Given the description of an element on the screen output the (x, y) to click on. 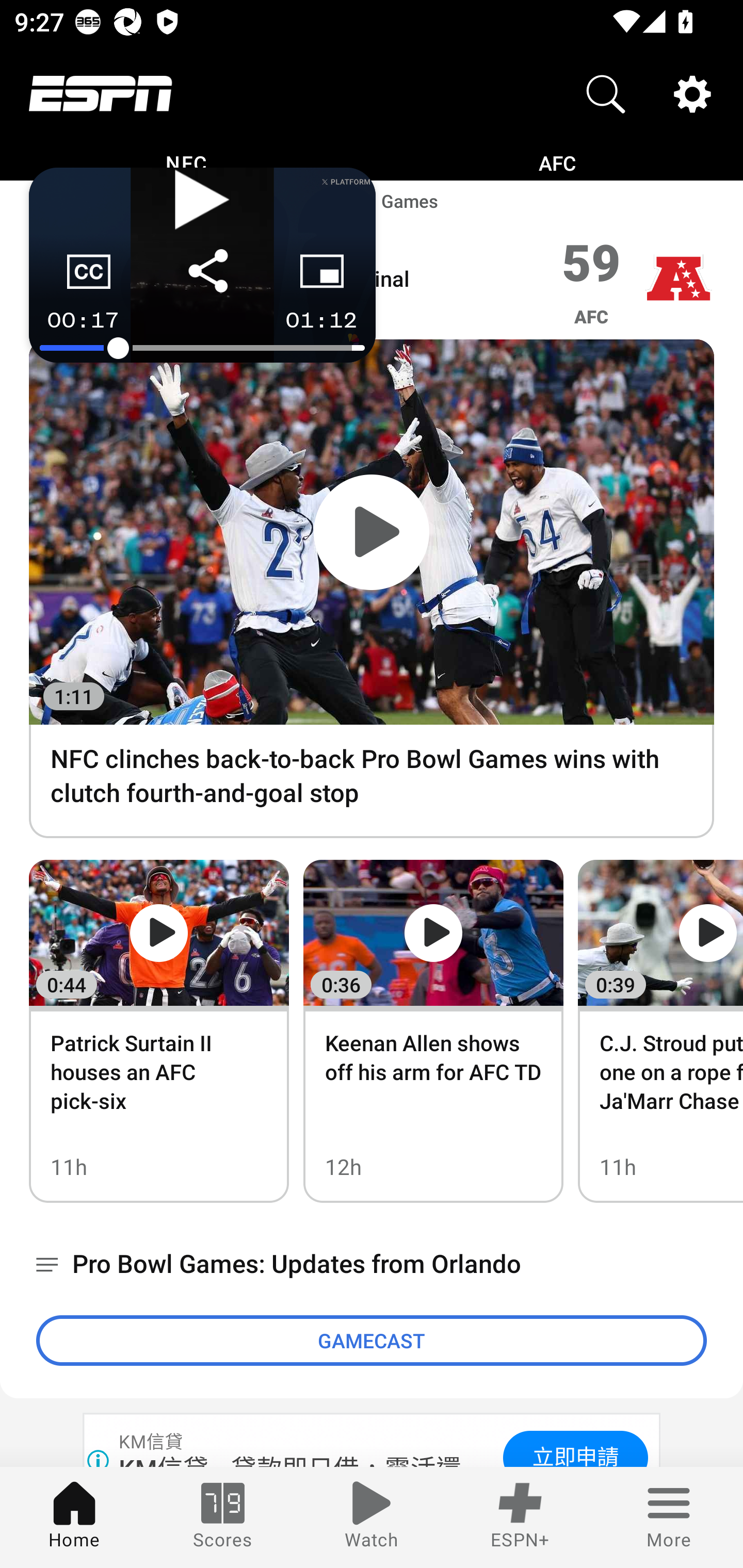
Search (605, 93)
Settings (692, 93)
 Pro Bowl Games: Updates from Orlando (371, 1264)
GAMECAST (371, 1340)
KM信貸 (151, 1441)
立即申請 (575, 1448)
Scores (222, 1517)
Watch (371, 1517)
ESPN+ (519, 1517)
More (668, 1517)
